Given the description of an element on the screen output the (x, y) to click on. 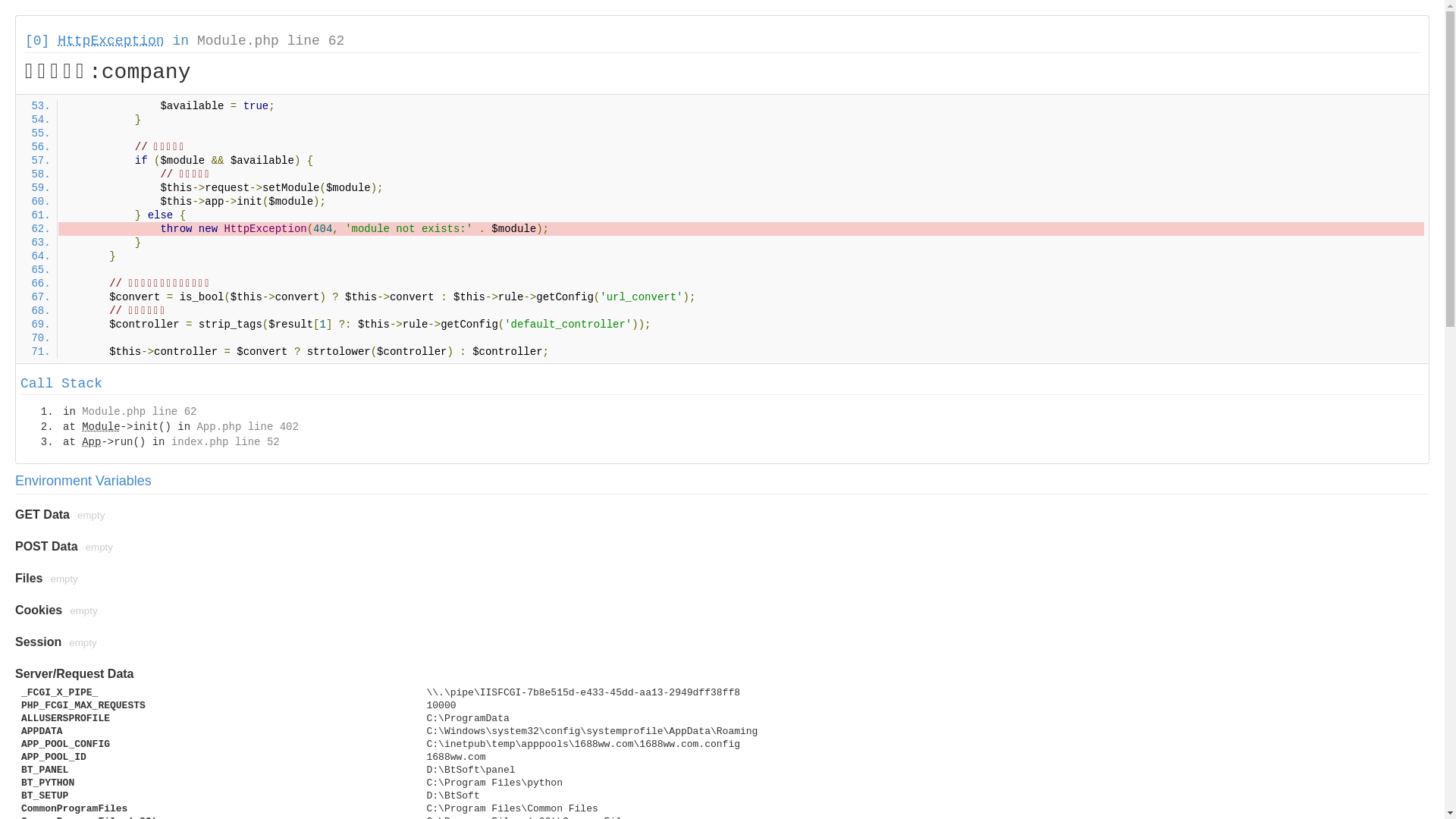
index.php line 52 Element type: text (225, 442)
Module.php line 62 Element type: text (138, 411)
Module.php line 62 Element type: text (270, 40)
App.php line 402 Element type: text (247, 426)
